Given the description of an element on the screen output the (x, y) to click on. 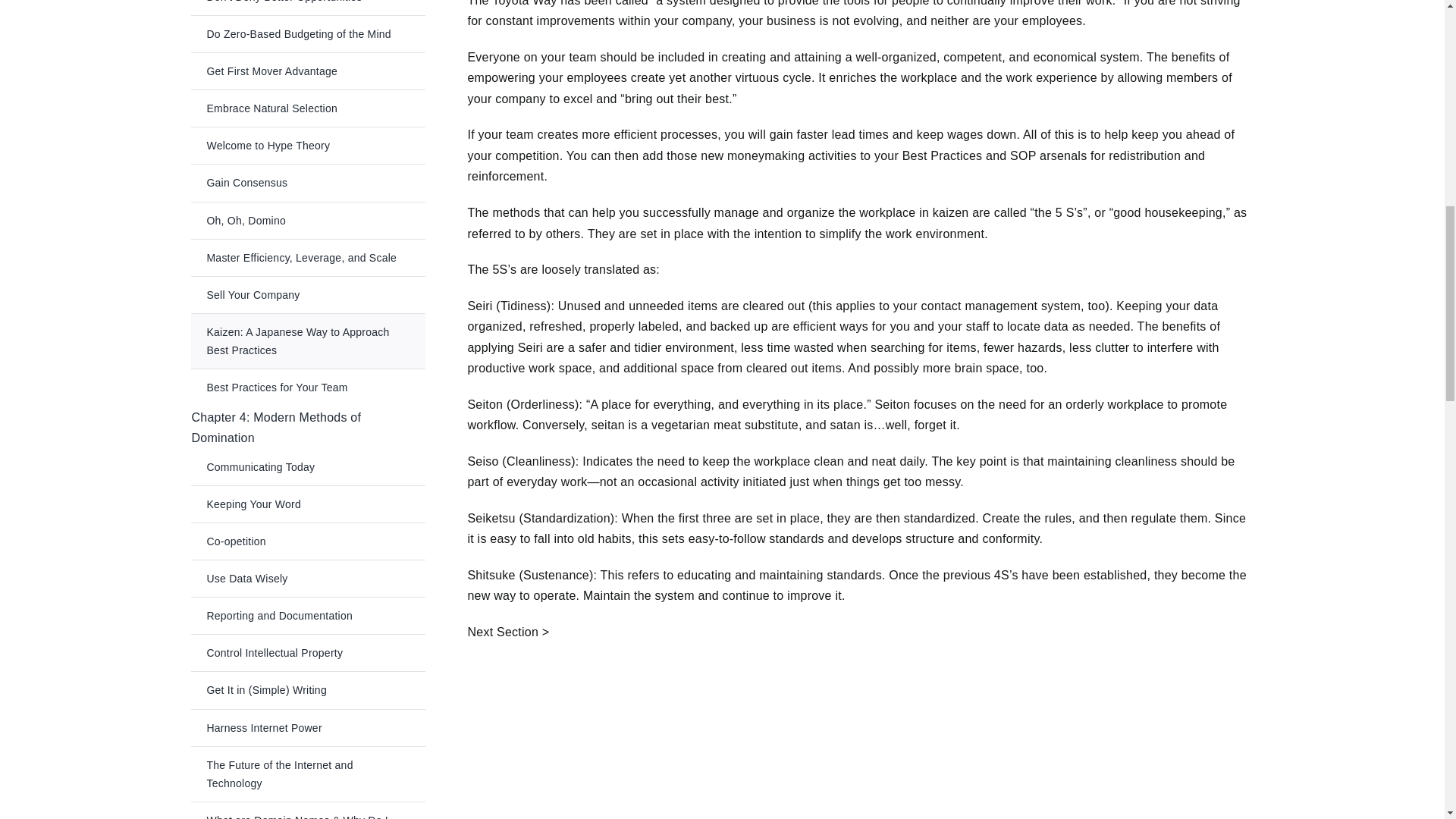
Sell Your Company (307, 294)
Gain Consensus (307, 182)
Master Efficiency, Leverage, and Scale (307, 257)
Do Zero-Based Budgeting of the Mind (307, 33)
Welcome to Hype Theory (307, 145)
Get First Mover Advantage (307, 71)
Oh, Oh, Domino (307, 219)
Embrace Natural Selection (307, 108)
